Given the description of an element on the screen output the (x, y) to click on. 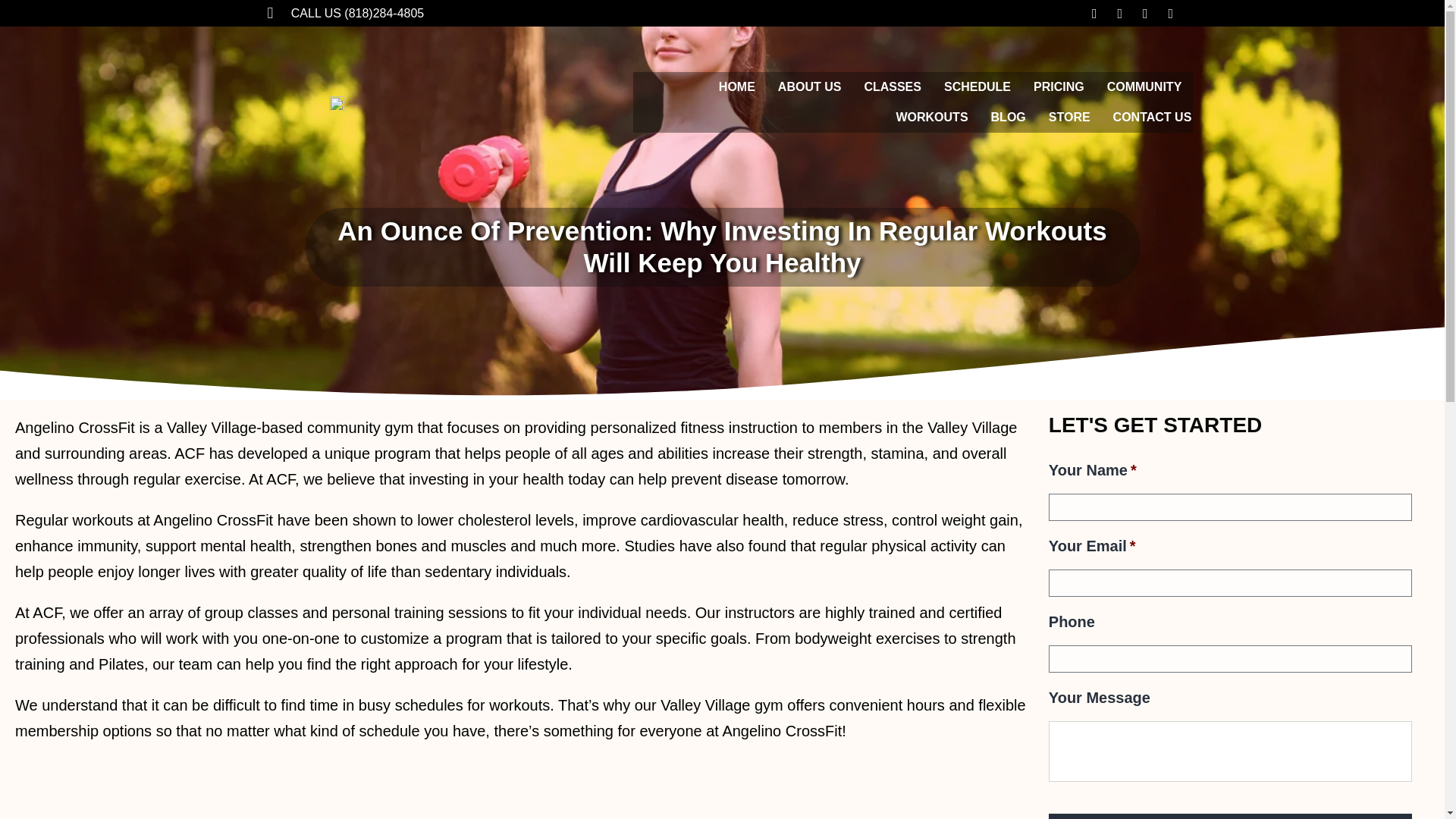
COMMUNITY (1144, 87)
BLOG (1008, 117)
Send (1230, 816)
SCHEDULE (976, 87)
HOME (737, 87)
WORKOUTS (931, 117)
ABOUT US (809, 87)
STORE (1069, 117)
PRICING (1059, 87)
CLASSES (892, 87)
